Given the description of an element on the screen output the (x, y) to click on. 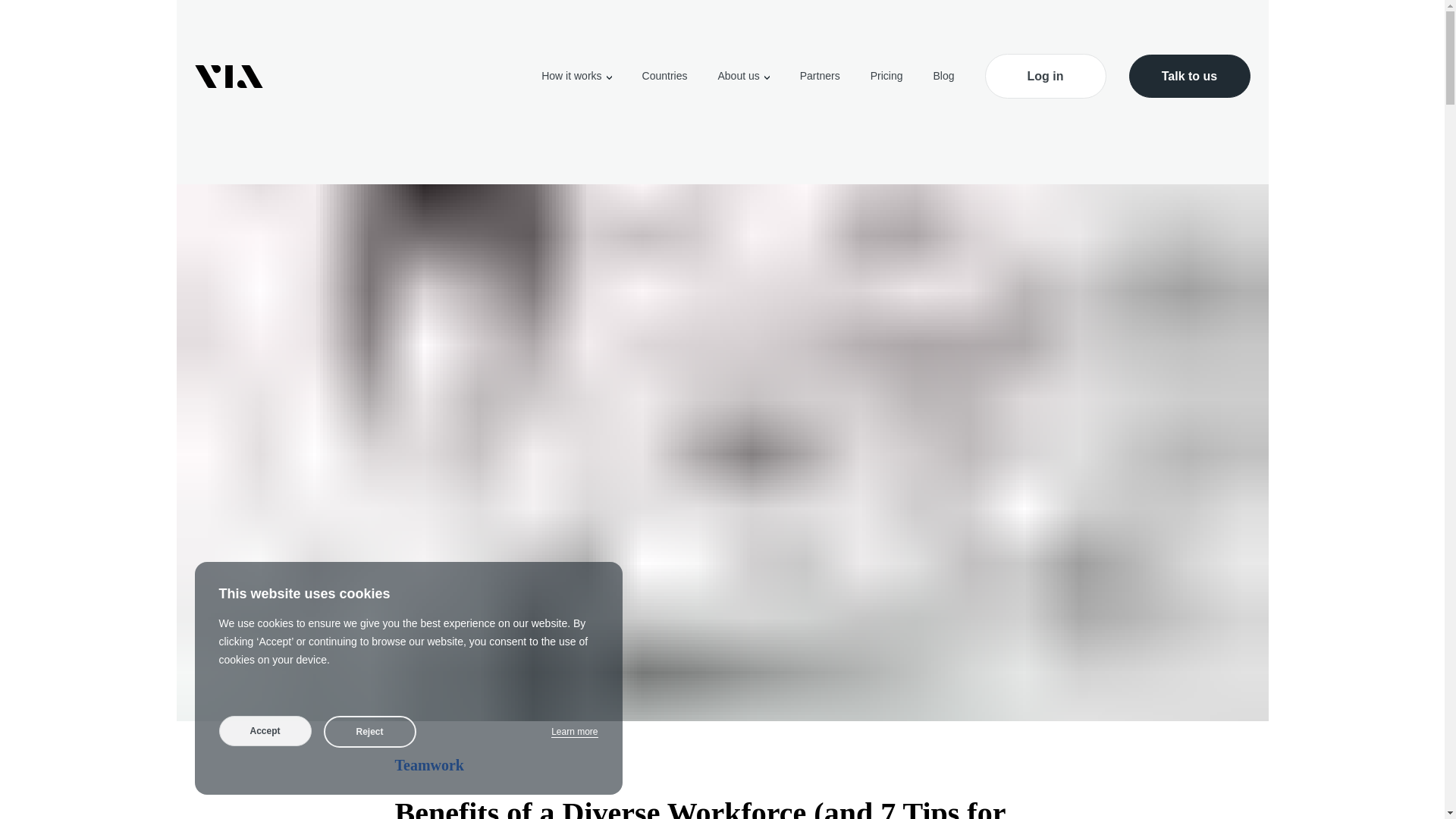
Partners (819, 75)
Reject (368, 731)
Blog (943, 75)
Pricing (886, 75)
Learn more (573, 731)
Countries (664, 75)
Log in (1044, 76)
Accept (264, 730)
Talk to us (1188, 75)
